Given the description of an element on the screen output the (x, y) to click on. 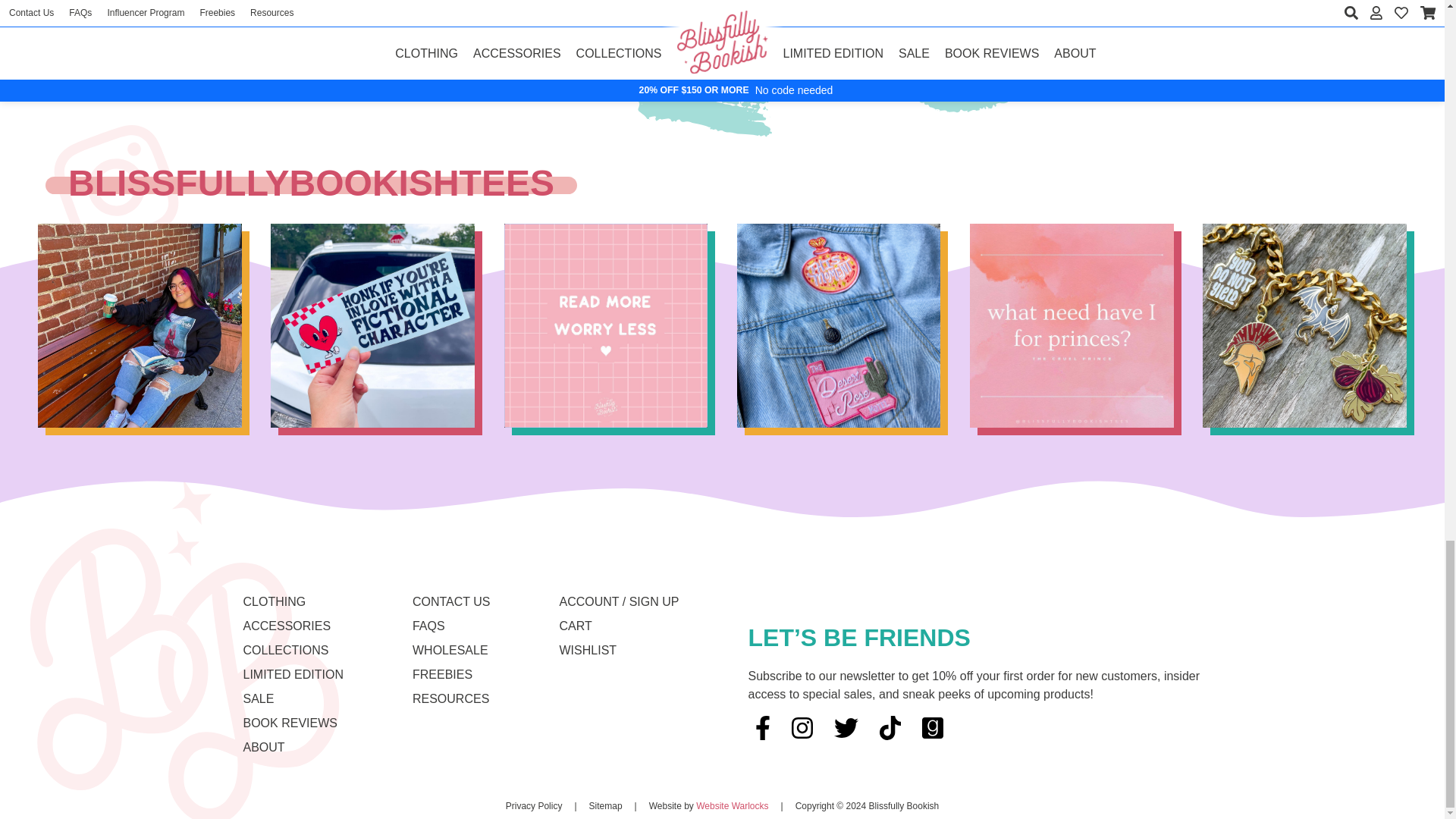
Twitter (846, 727)
Facebook (762, 727)
Goodreads (932, 727)
Instagram (802, 727)
TikTok (890, 727)
